Given the description of an element on the screen output the (x, y) to click on. 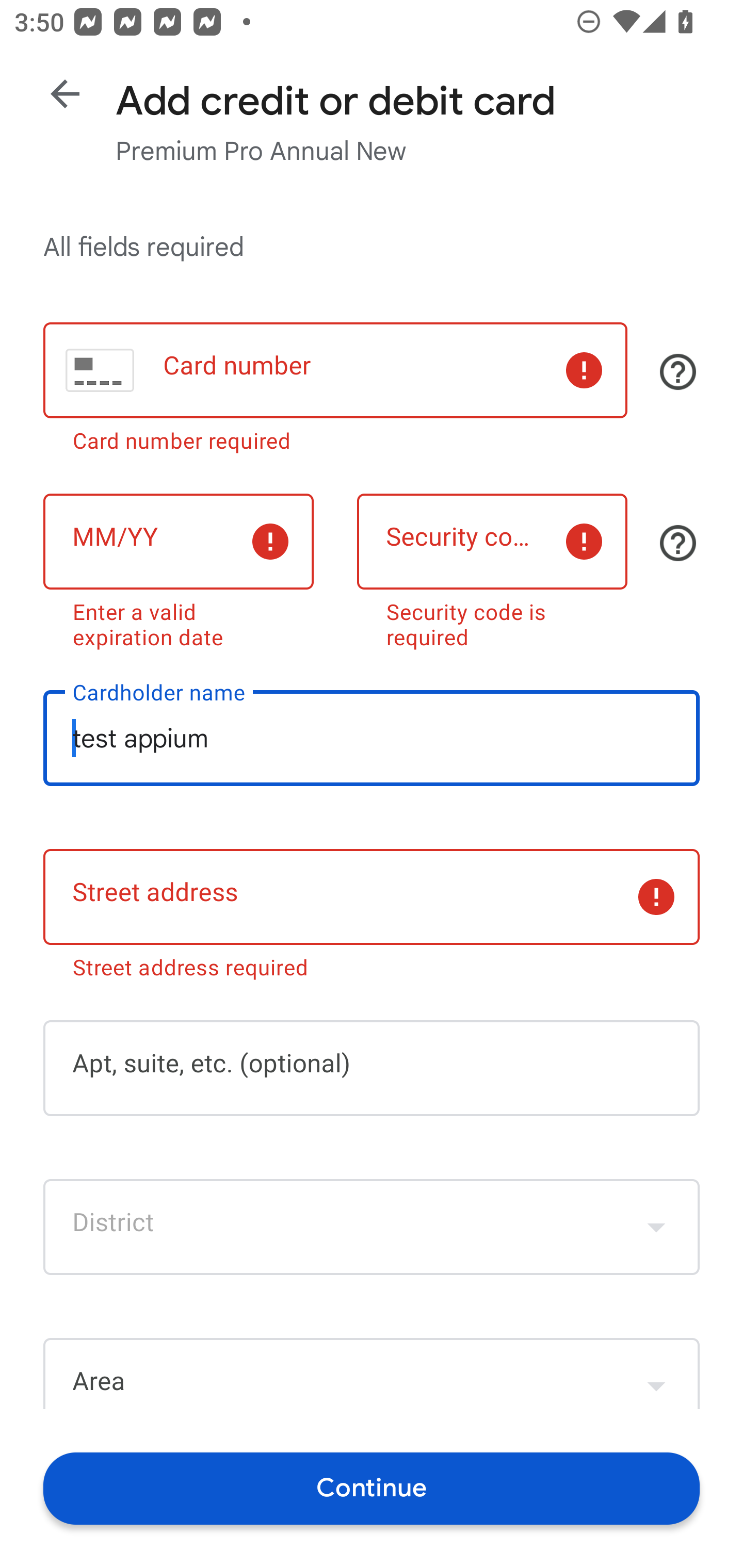
Back (64, 93)
Card number (335, 370)
Button, shows cards that are accepted for payment (677, 371)
Expiration date, 2 digit month, 2 digit year (178, 541)
Security code (492, 541)
Security code help (677, 543)
test appium (371, 737)
Street address (371, 896)
Apt, suite, etc. (optional) (371, 1068)
District (371, 1226)
Show dropdown menu (655, 1226)
Area (371, 1373)
Show dropdown menu (655, 1375)
Continue (371, 1487)
